Given the description of an element on the screen output the (x, y) to click on. 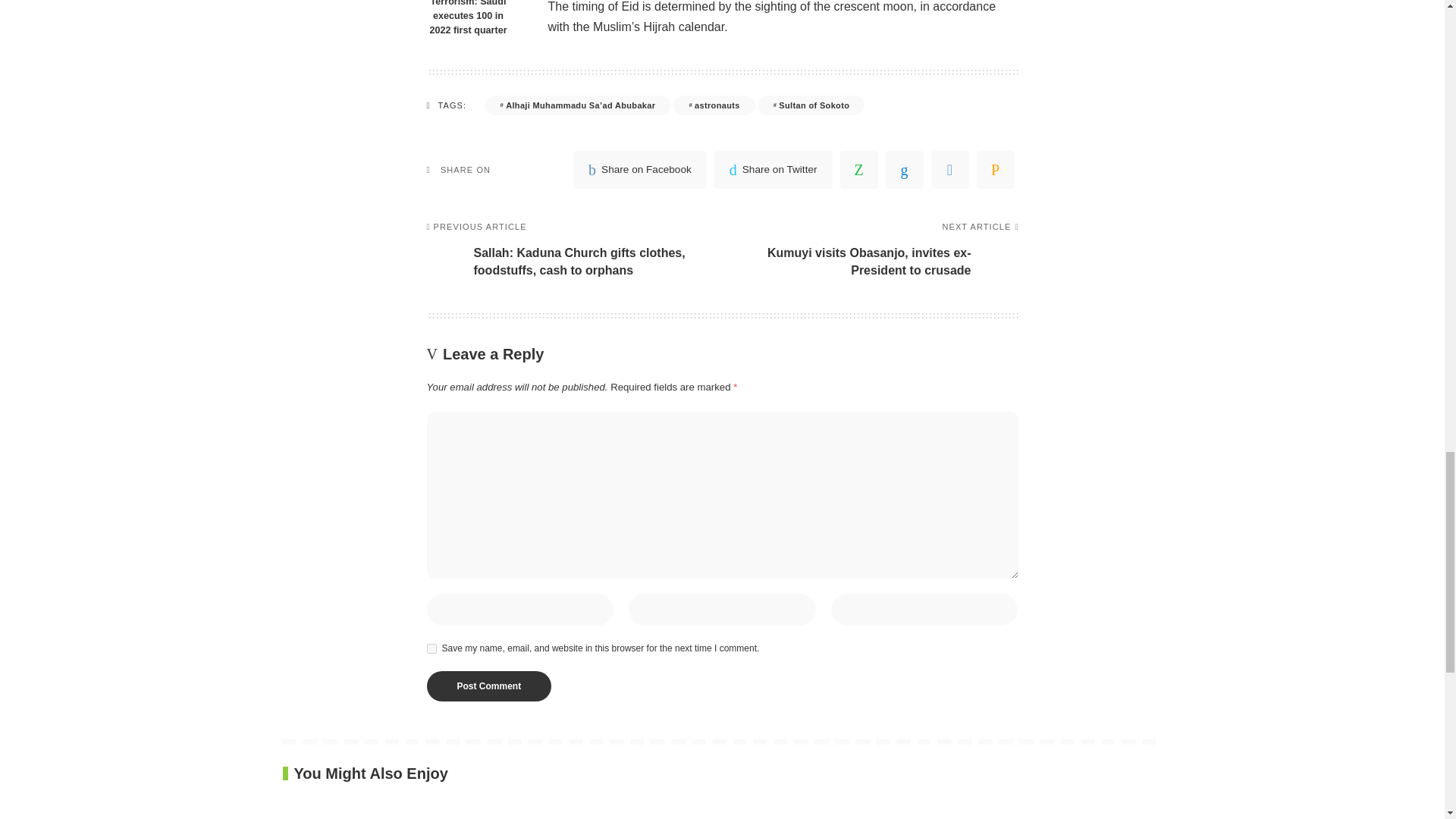
astronauts (713, 105)
Post Comment (488, 685)
Share on Twitter (773, 169)
Twitter (773, 169)
WhatsApp (858, 169)
Share on Facebook (639, 169)
yes (430, 648)
Sultan of Sokoto (811, 105)
